Given the description of an element on the screen output the (x, y) to click on. 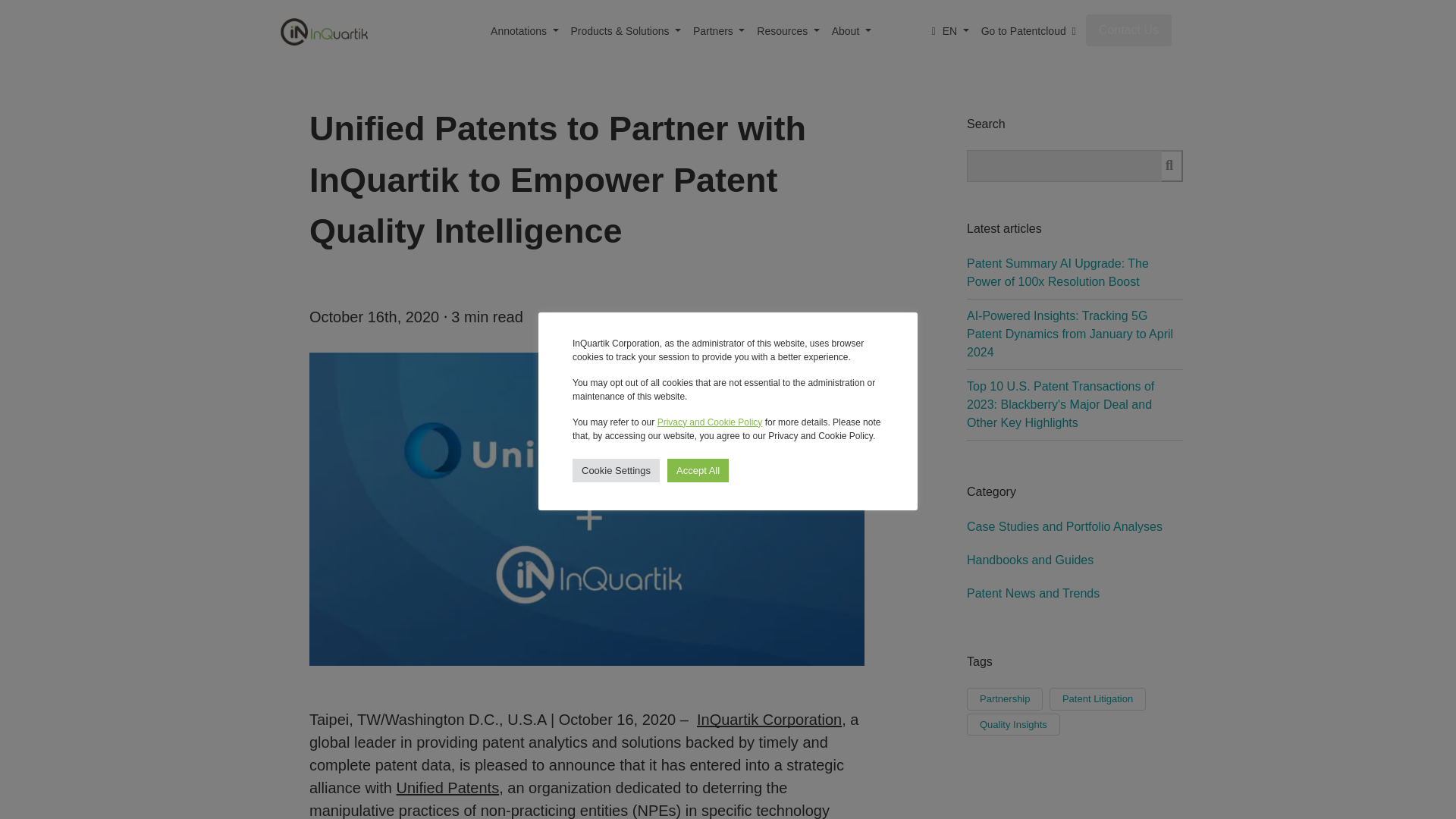
 InQuartik (324, 31)
Annotations (524, 30)
InQuartik (322, 29)
